Given the description of an element on the screen output the (x, y) to click on. 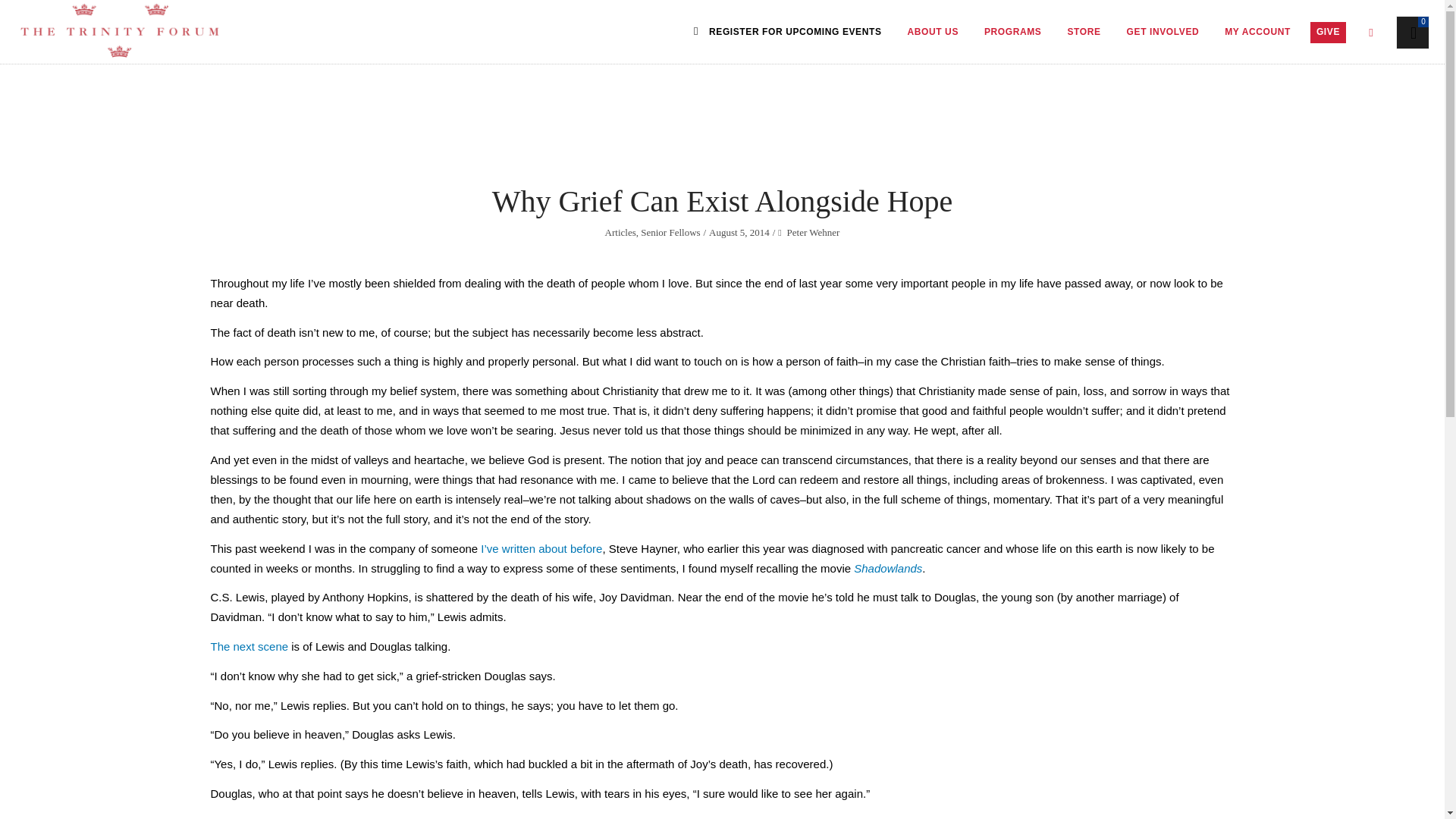
REGISTER FOR UPCOMING EVENTS (784, 32)
MY ACCOUNT (1257, 32)
GET INVOLVED (1163, 32)
Posts by Peter Wehner (813, 232)
GIVE (1327, 32)
ABOUT US (932, 32)
STORE (1083, 32)
PROGRAMS (1012, 32)
